Given the description of an element on the screen output the (x, y) to click on. 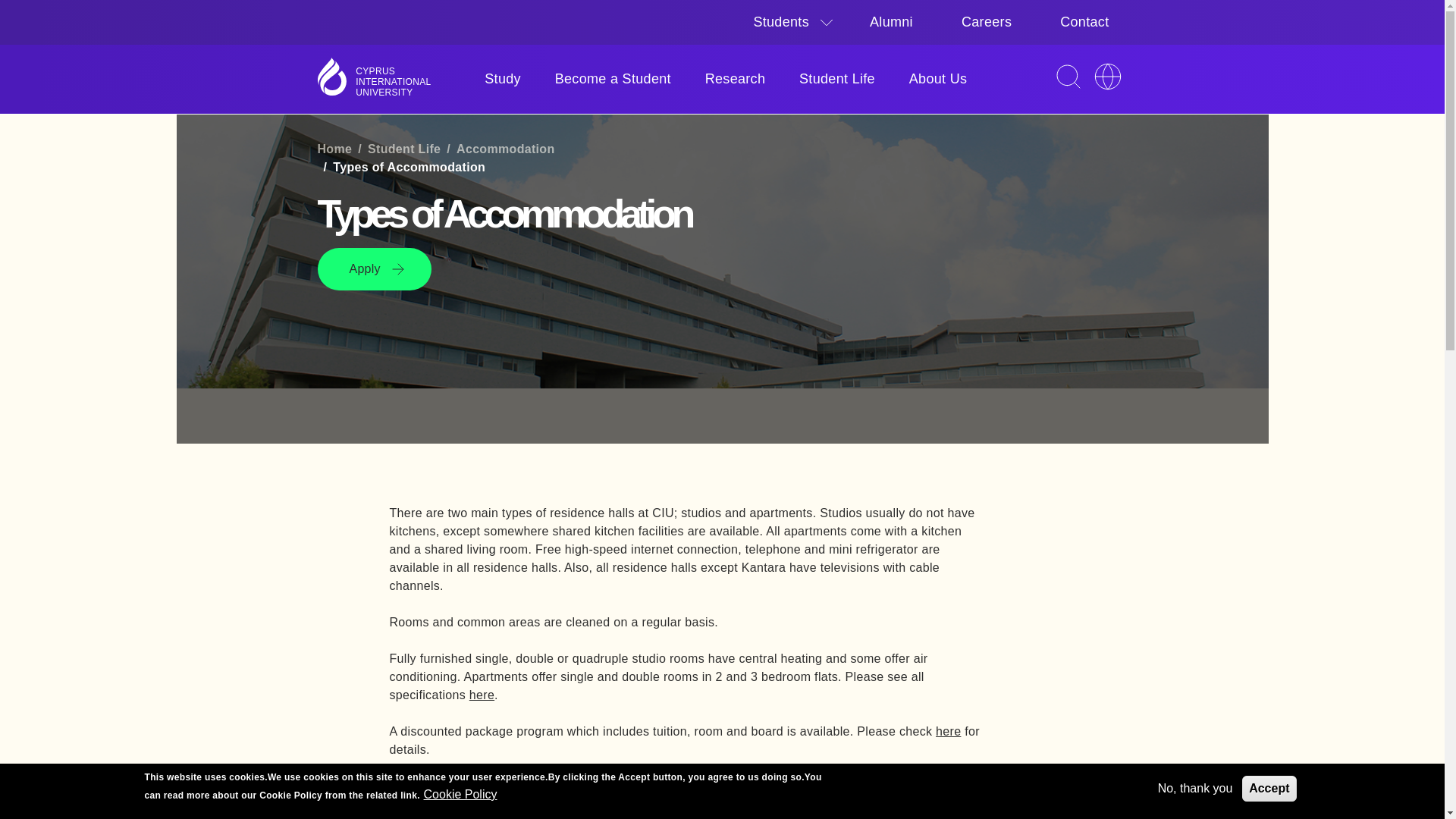
Home (392, 81)
Study (501, 79)
Become a Student (612, 79)
CYPRUS INTERNATIONAL UNIVERSITY (392, 81)
Student Life (836, 79)
Research (735, 79)
